Given the description of an element on the screen output the (x, y) to click on. 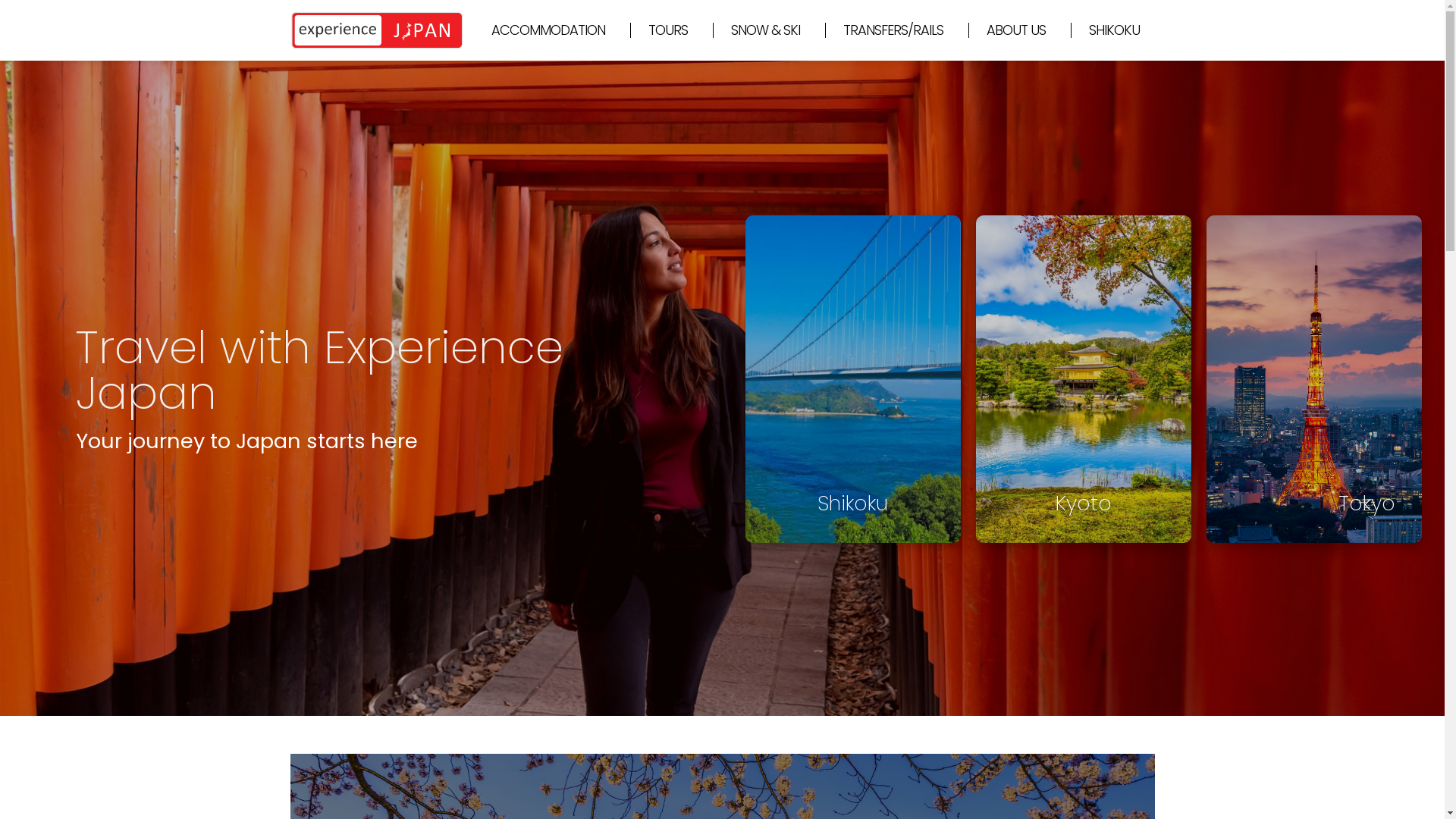
SHIKOKU Element type: text (1113, 30)
SNOW & SKI Element type: text (768, 30)
Tokyo Element type: text (1313, 378)
Shikoku Element type: text (852, 378)
Kyoto Element type: text (1083, 378)
ACCOMMODATION Element type: text (551, 30)
TRANSFERS/RAILS Element type: text (897, 30)
TOURS Element type: text (670, 30)
ABOUT US Element type: text (1018, 30)
